Given the description of an element on the screen output the (x, y) to click on. 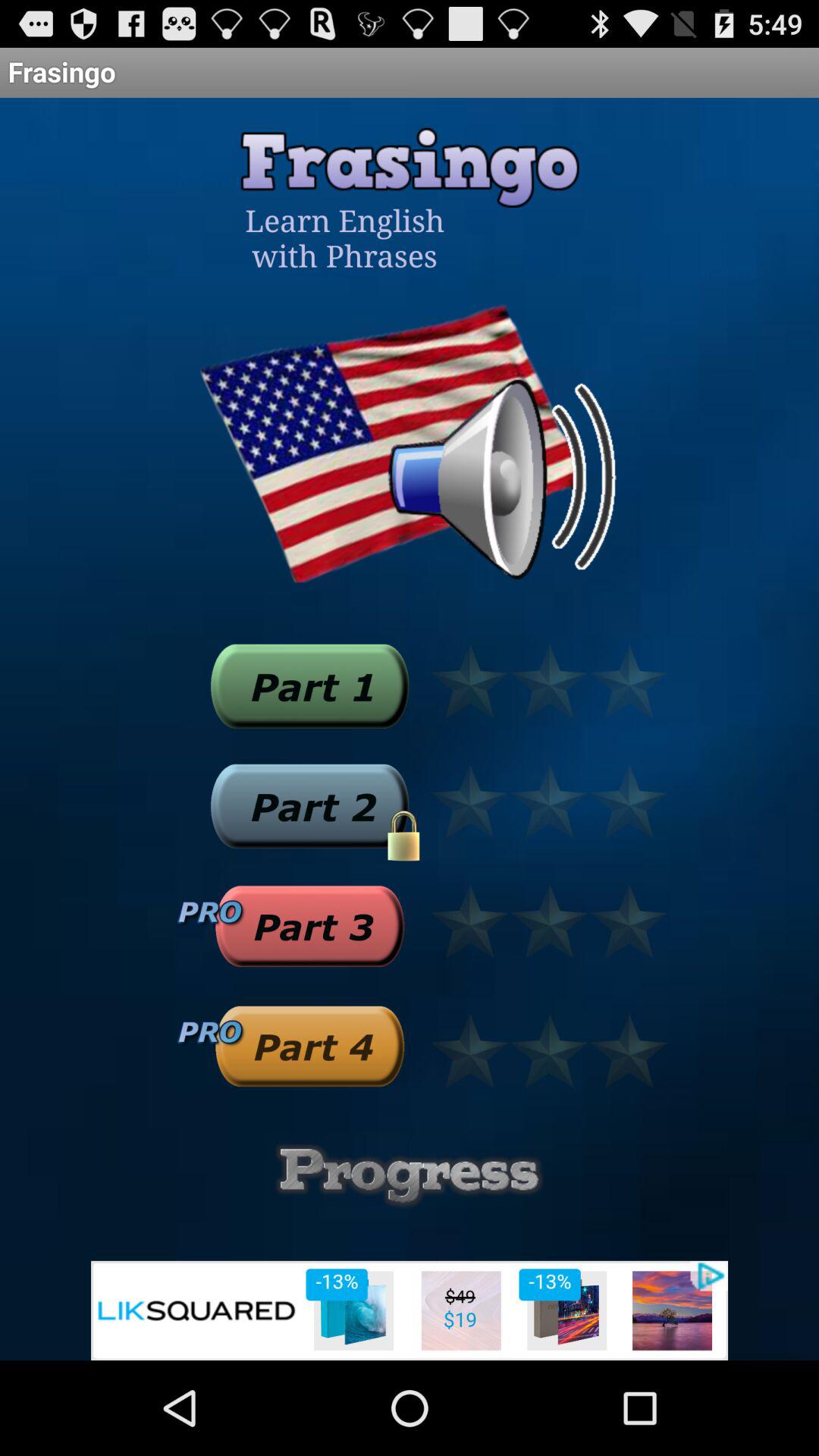
app footer advertisement window (409, 1310)
